Given the description of an element on the screen output the (x, y) to click on. 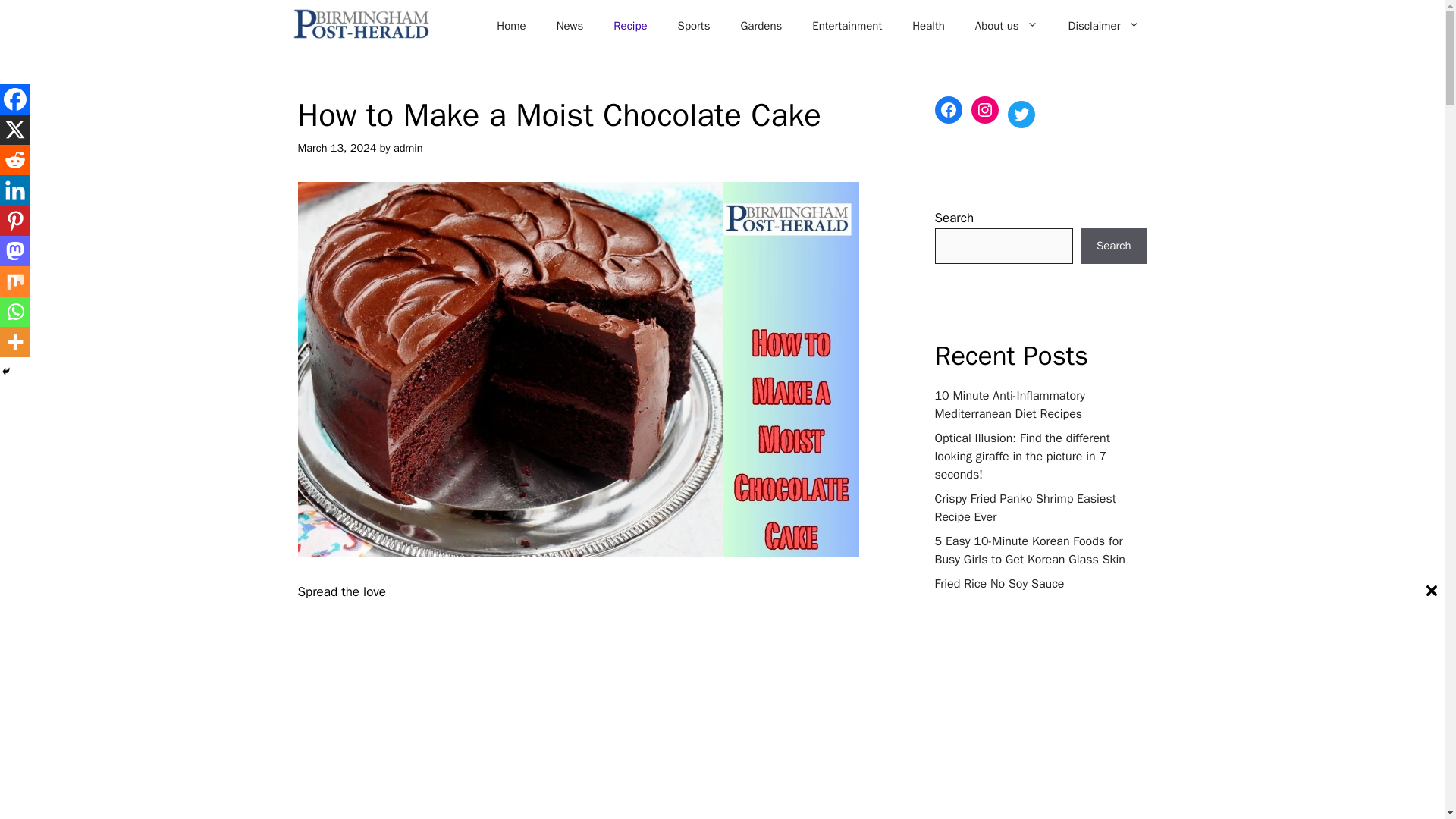
News (569, 25)
Health (927, 25)
Birmingham Post Herald (359, 25)
Recipe (630, 25)
Entertainment (846, 25)
Sports (693, 25)
admin (408, 147)
Gardens (760, 25)
Advertisement (585, 775)
Facebook (311, 616)
